Given the description of an element on the screen output the (x, y) to click on. 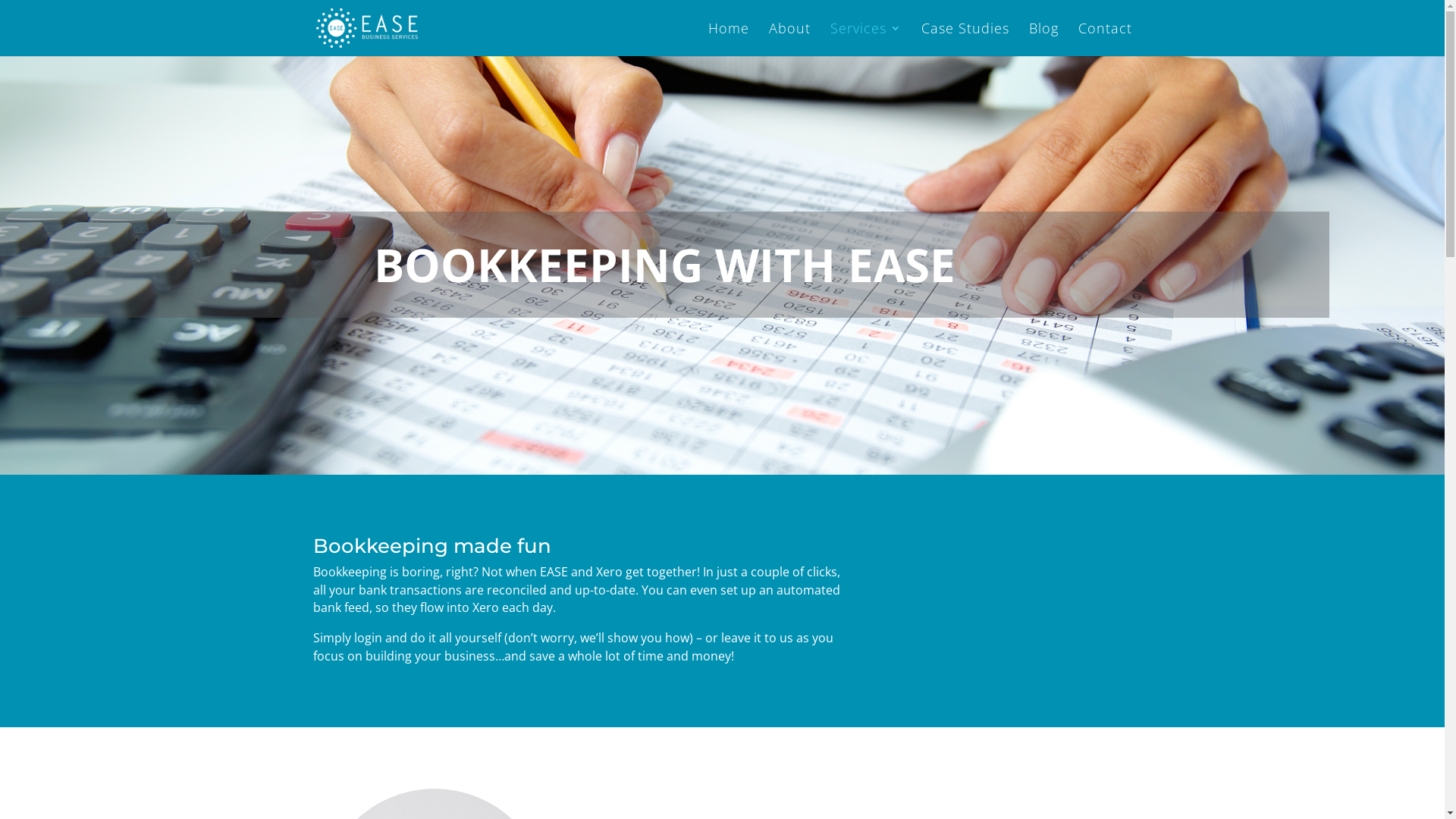
Services Element type: text (864, 39)
Home Element type: text (728, 39)
Contact Element type: text (1105, 39)
About Element type: text (789, 39)
Case Studies Element type: text (964, 39)
Blog Element type: text (1042, 39)
